Given the description of an element on the screen output the (x, y) to click on. 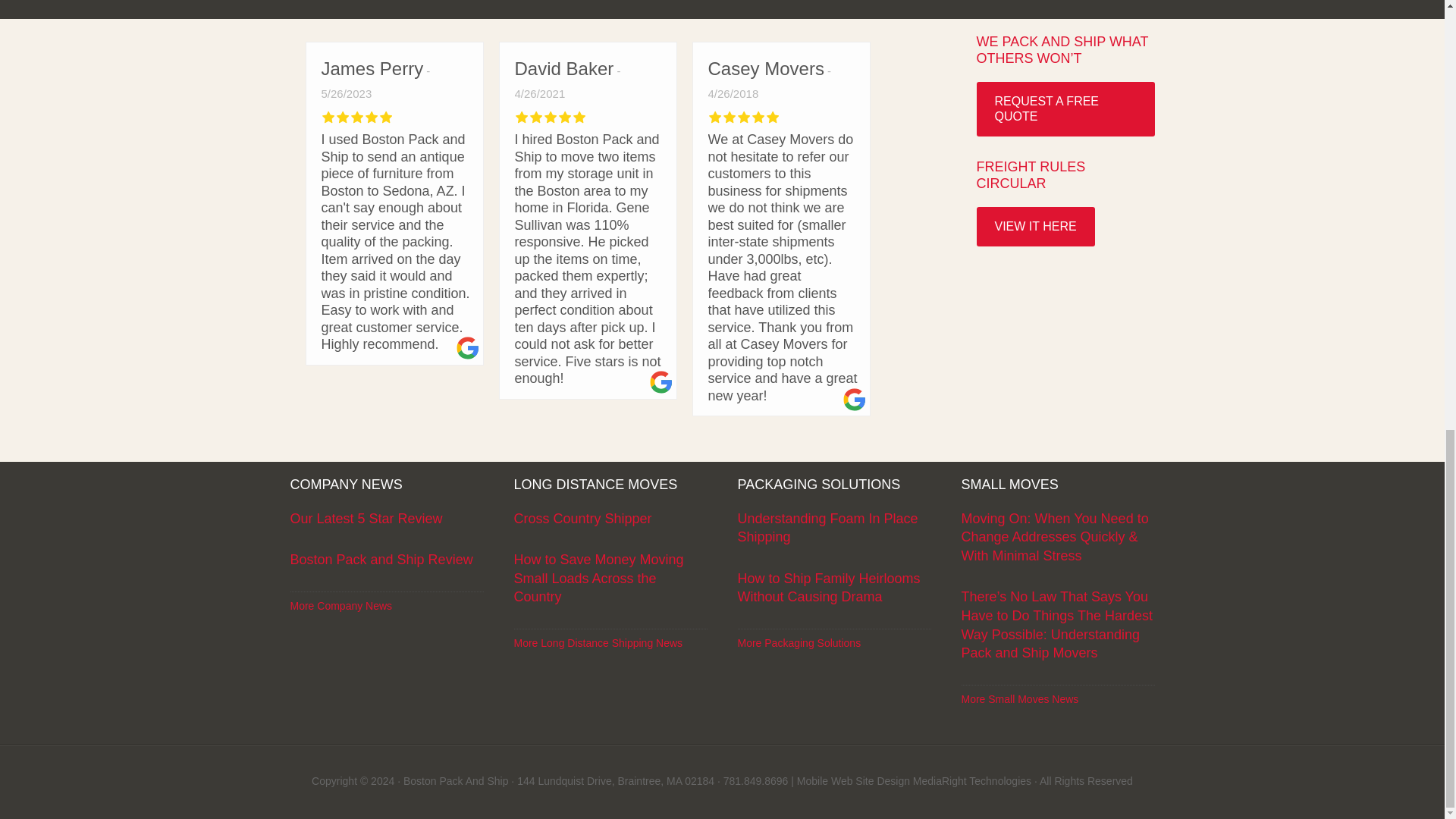
More Small Moves News (1019, 698)
How to Ship Family Heirlooms Without Causing Drama (828, 587)
More Company News (340, 605)
More Long Distance Shipping News (597, 643)
Packaging Solutions (798, 643)
Mobile Web Site Design MediaRight Technologies (913, 780)
Cross Country Shipper (582, 518)
Understanding Foam In Place Shipping (826, 528)
Company News (340, 605)
More Packaging Solutions (798, 643)
